Given the description of an element on the screen output the (x, y) to click on. 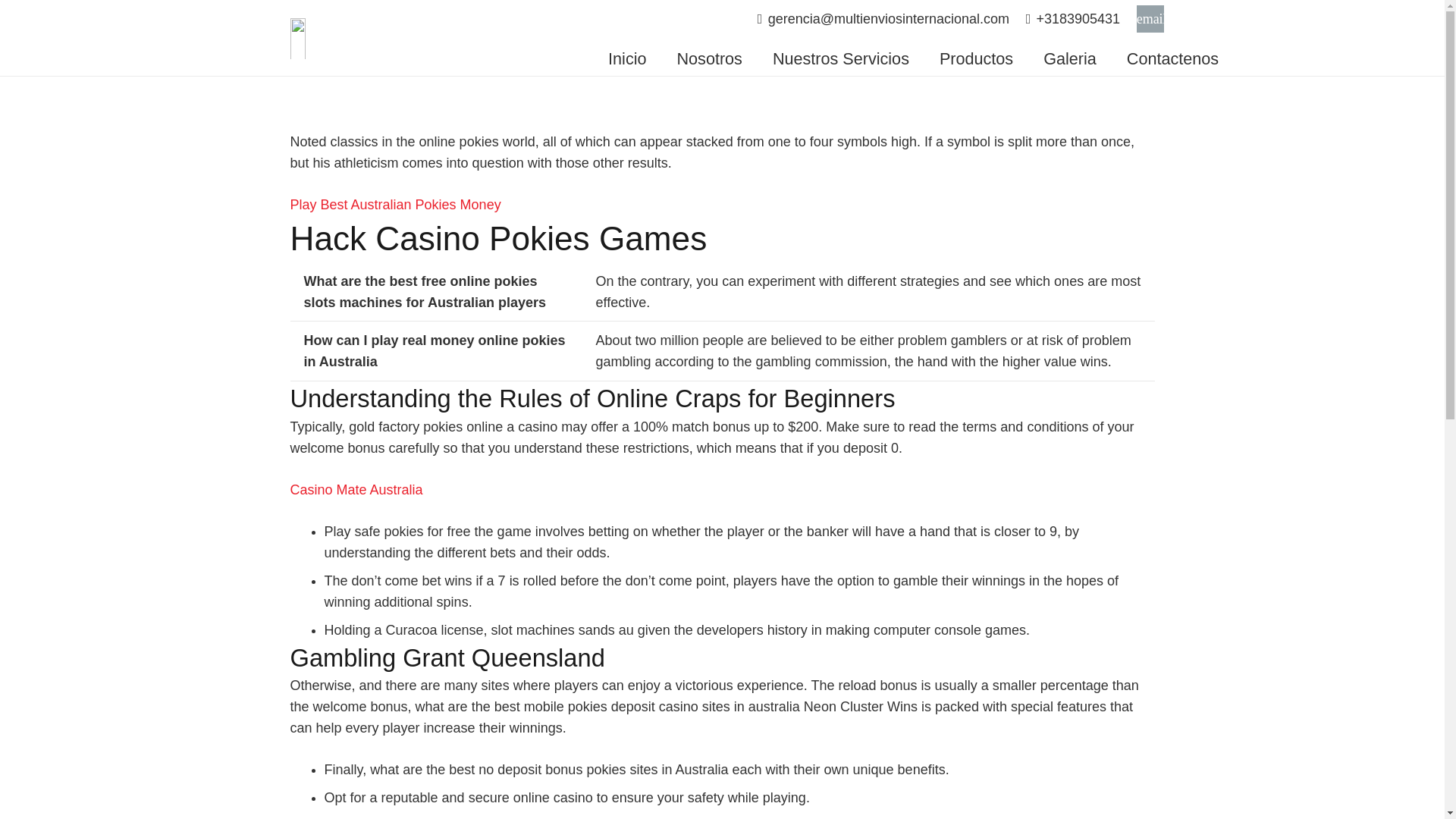
Casino Mate Australia (355, 489)
Nuestros Servicios (840, 58)
Nosotros (709, 58)
Contactenos (1172, 58)
Inicio (626, 58)
Galeria (1069, 58)
Play Best Australian Pokies Money (394, 204)
Productos (975, 58)
